Given the description of an element on the screen output the (x, y) to click on. 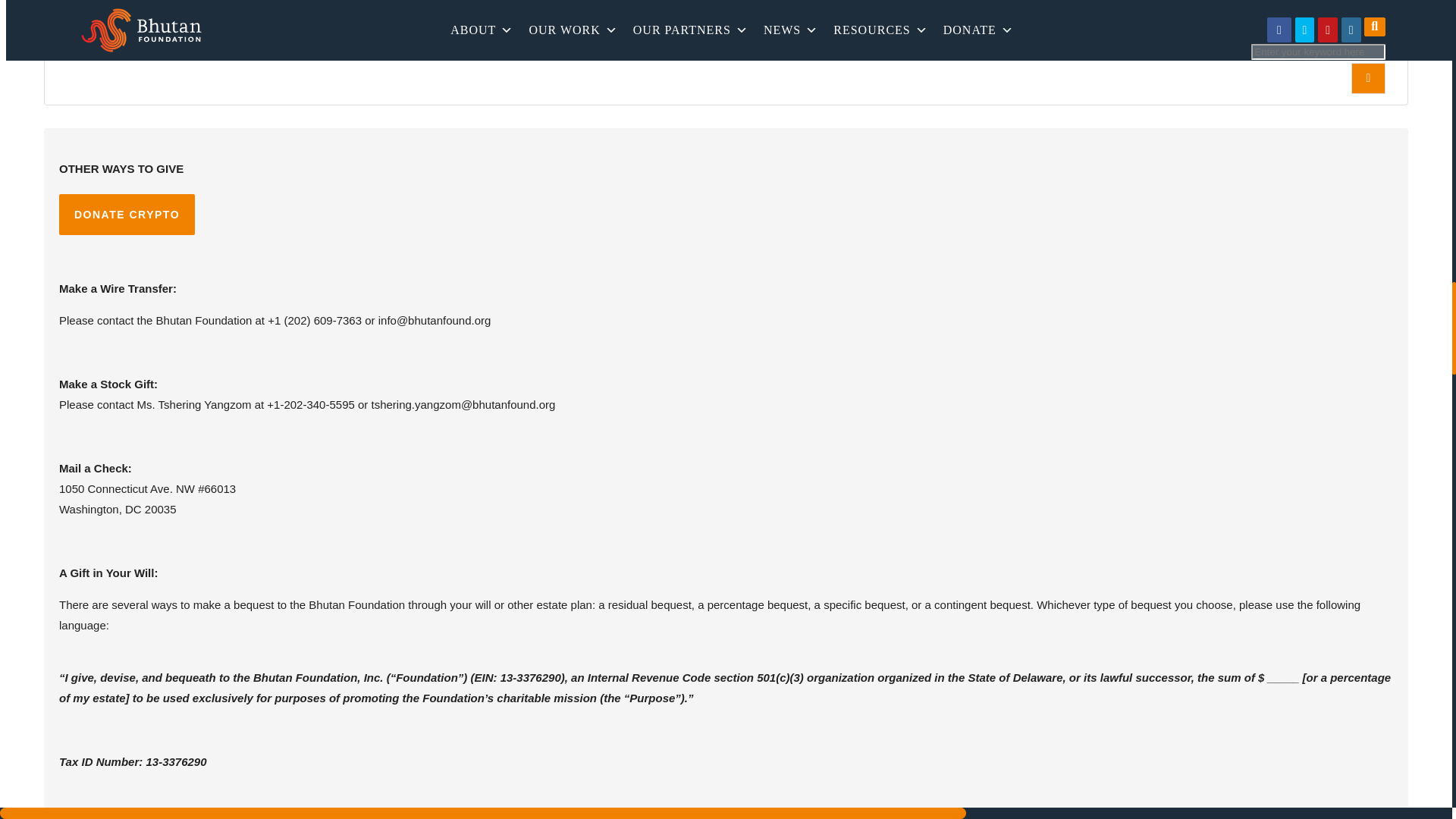
Submit (554, 22)
